Given the description of an element on the screen output the (x, y) to click on. 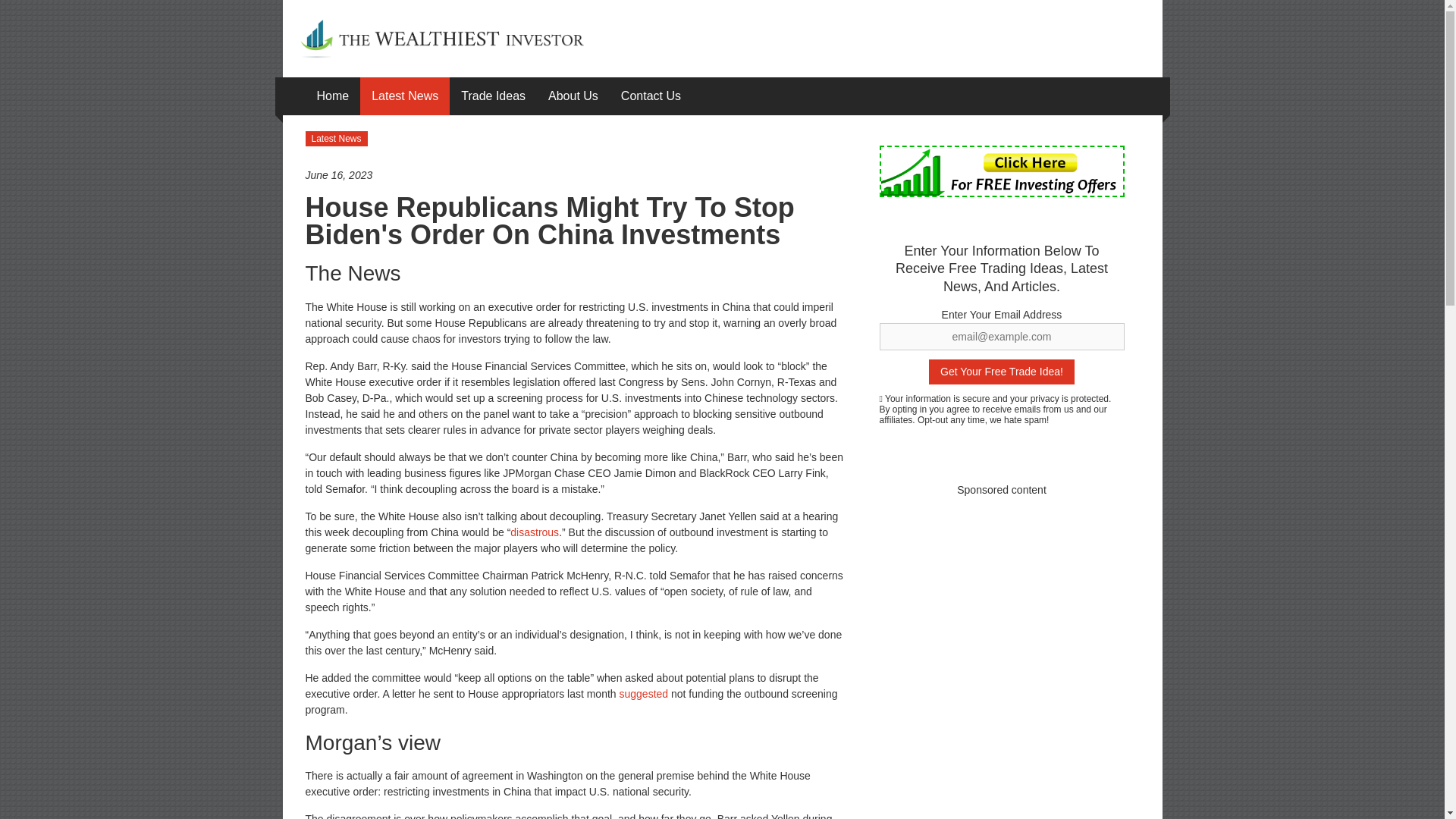
Get Your Free Trade Idea! (1001, 371)
disastrous (535, 532)
June 16, 2023 (575, 175)
12:50 pm (575, 175)
Contact Us (651, 95)
Latest News (335, 138)
suggested (644, 693)
Latest News (404, 95)
About Us (573, 95)
Trade Ideas (493, 95)
